Given the description of an element on the screen output the (x, y) to click on. 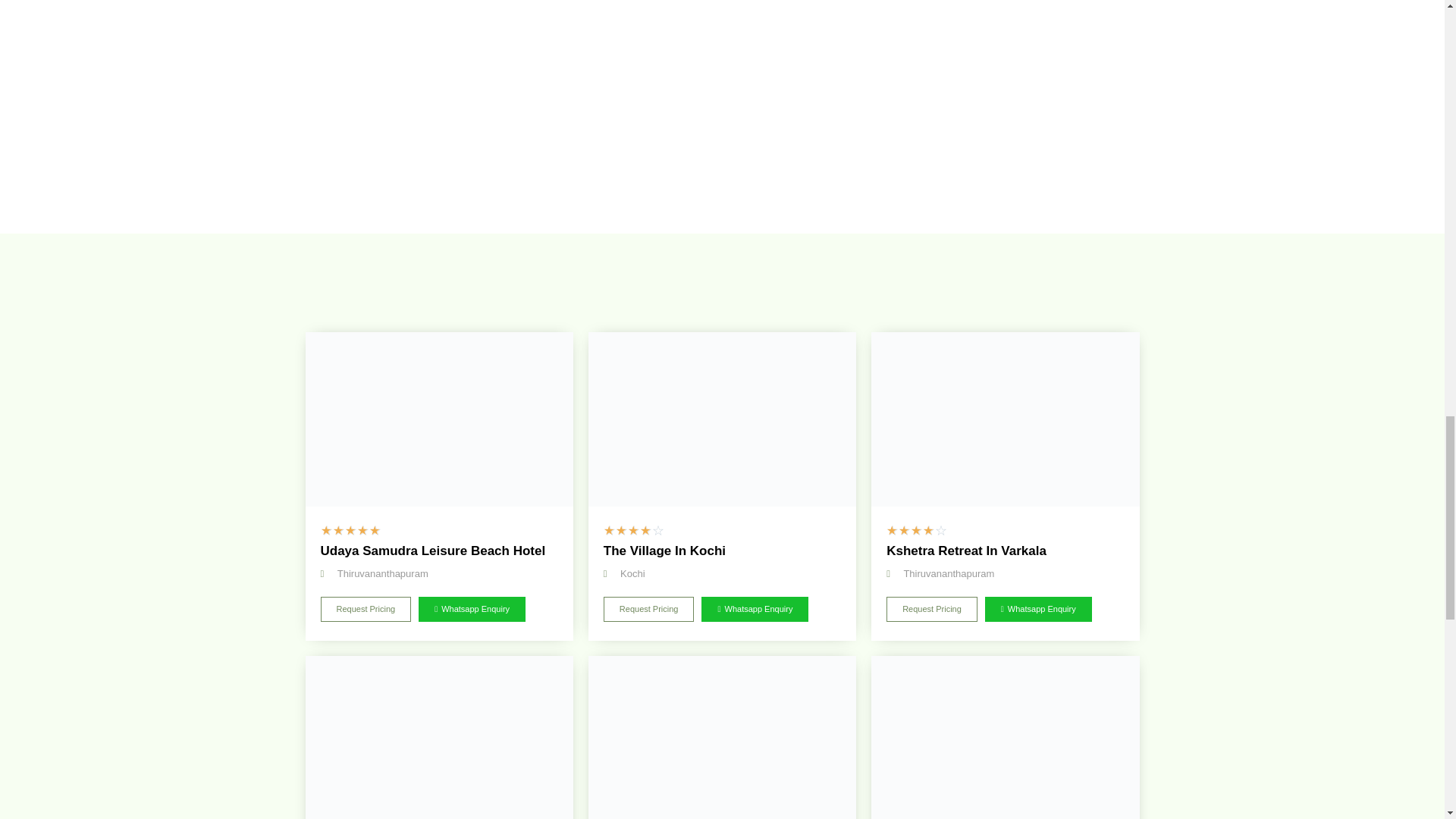
Arabian Beach Resort Makes W (1004, 737)
Udaya Samudra Leisure Beach Hotel (438, 419)
Sneha Inn, Kannur W (722, 737)
The Village In Kochi W (722, 419)
Anchor Resorts In Kannur (438, 737)
Kshetra Retreat In Varkala (1004, 419)
